Given the description of an element on the screen output the (x, y) to click on. 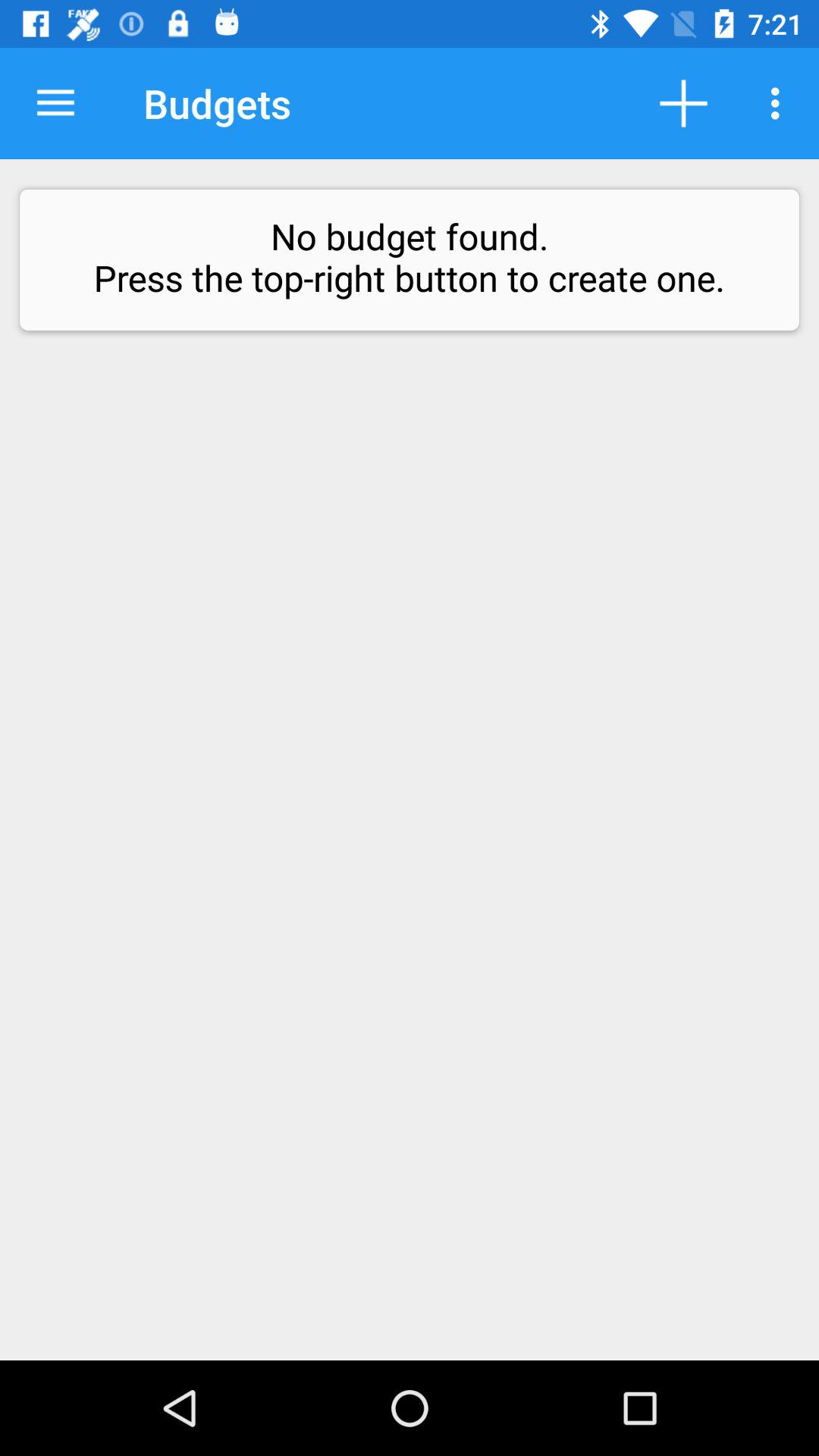
turn off item above no budget found (779, 103)
